Given the description of an element on the screen output the (x, y) to click on. 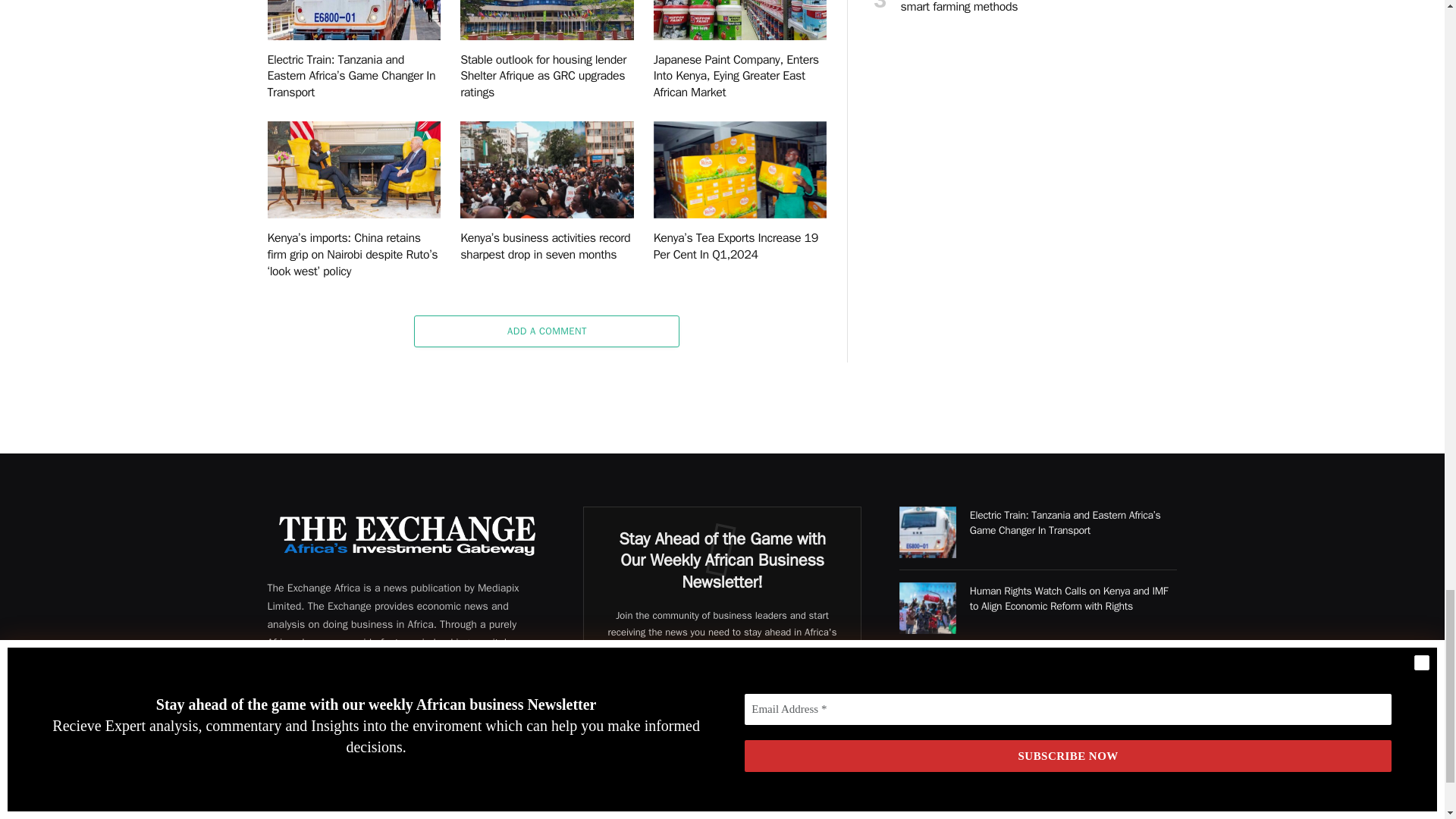
Subscribe (721, 732)
on (624, 769)
